Given the description of an element on the screen output the (x, y) to click on. 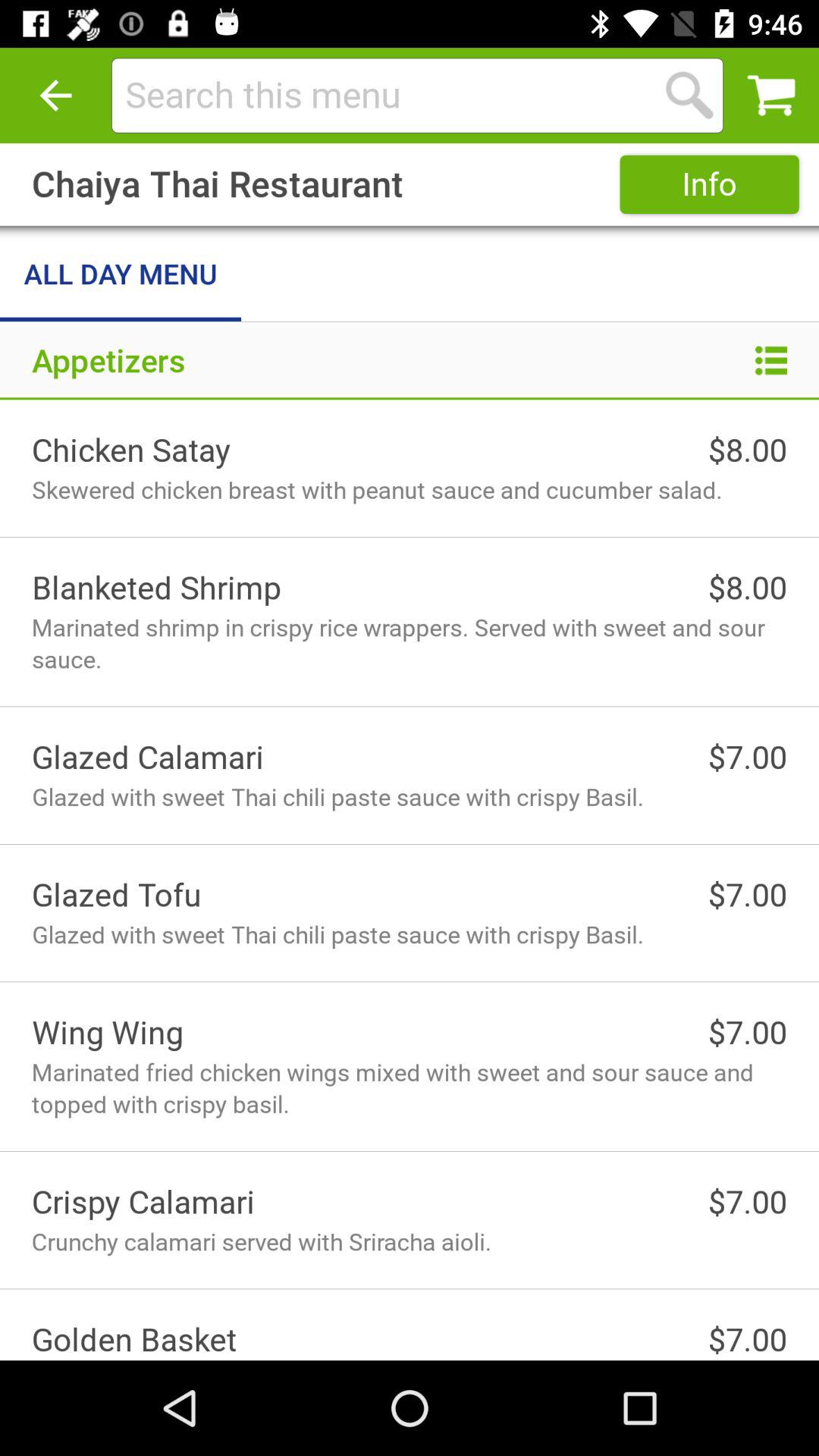
tap icon next to chaiya thai restaurant icon (709, 184)
